Given the description of an element on the screen output the (x, y) to click on. 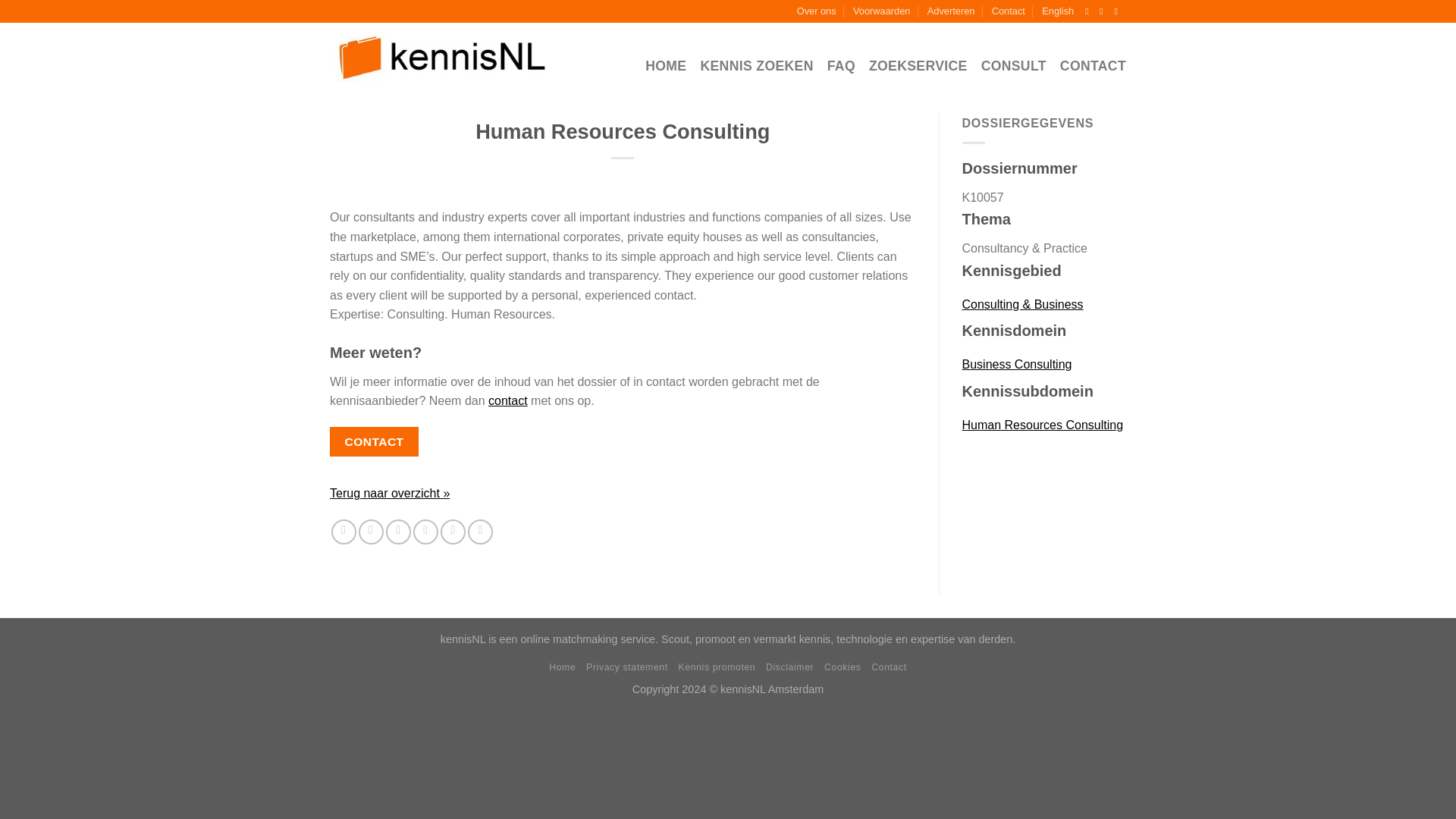
CONSULT (1013, 66)
Adverteren (951, 11)
contact (507, 400)
Cookies (842, 666)
Business Consulting (1042, 364)
HOME (665, 66)
kennisNL - Kennis, technologie en expertise voor innovatie (443, 56)
Deel op Facebook (343, 531)
Over ons (815, 11)
Deel op LinkedIn (453, 531)
